Given the description of an element on the screen output the (x, y) to click on. 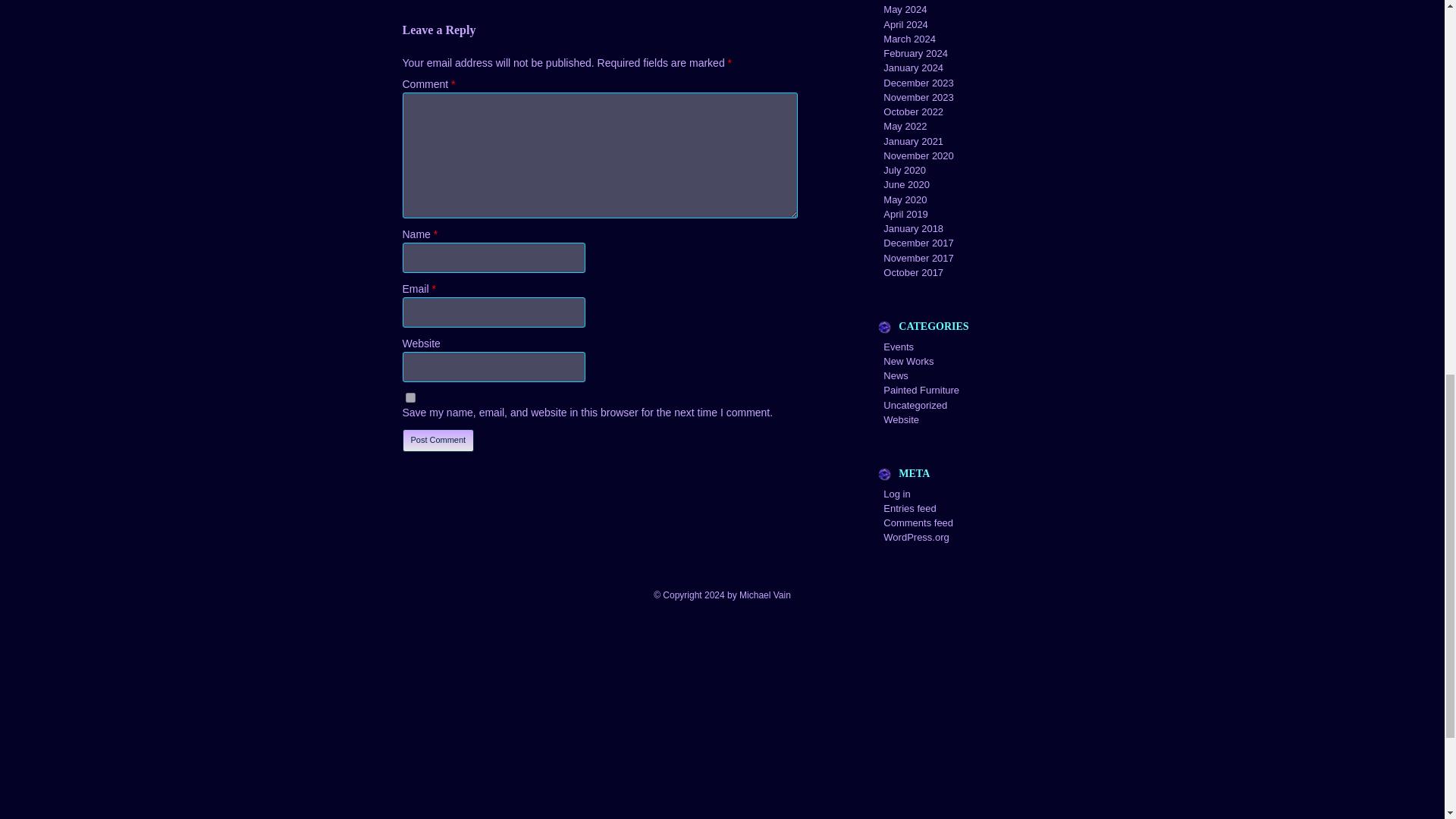
yes (409, 397)
October 2022 (913, 111)
Post Comment (437, 440)
May 2022 (904, 125)
March 2024 (909, 39)
June 2024 (906, 0)
January 2021 (913, 141)
Post Comment (437, 440)
February 2024 (915, 52)
May 2024 (904, 9)
